Given the description of an element on the screen output the (x, y) to click on. 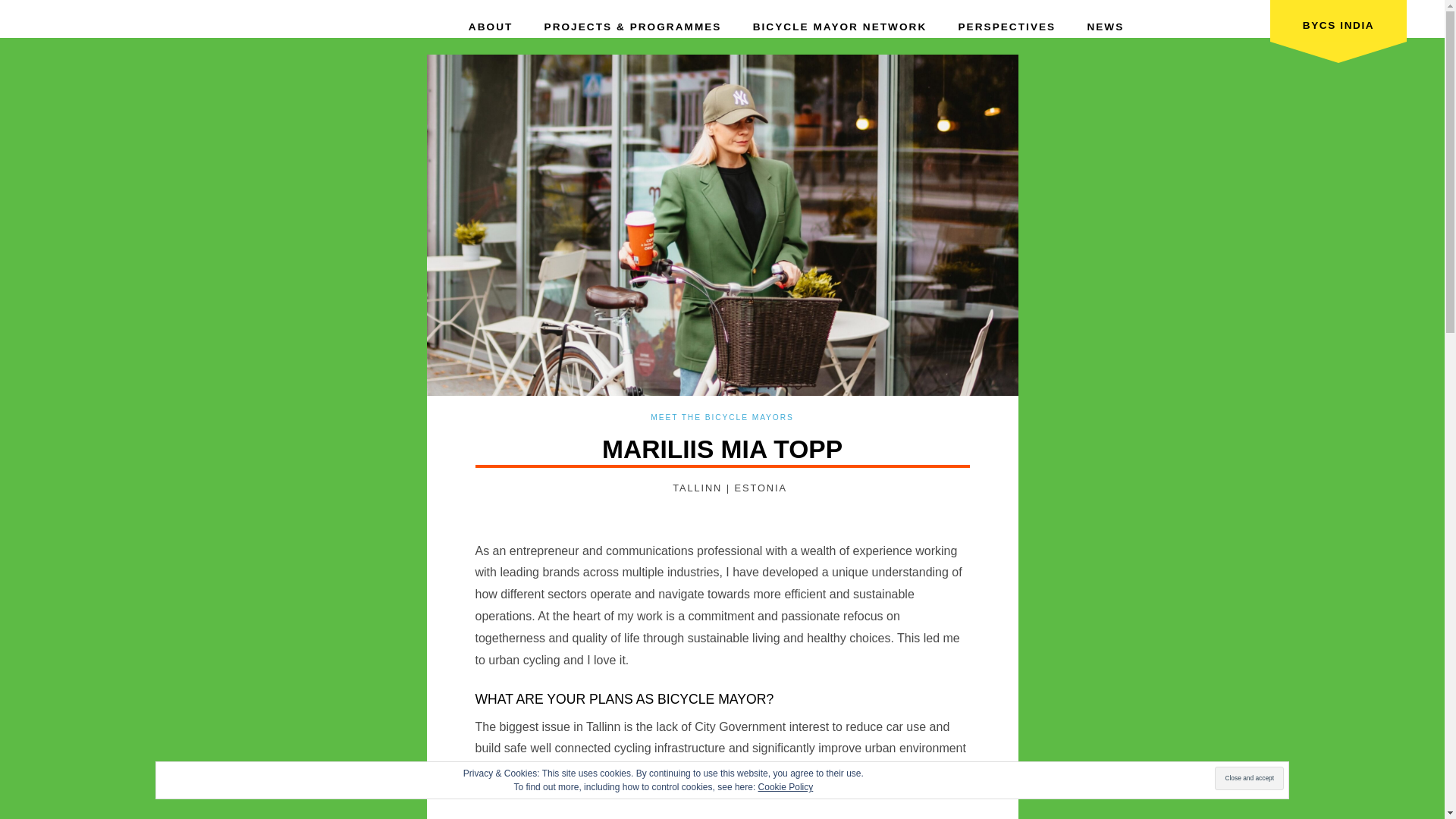
Close and accept (1249, 778)
BICYCLE MAYOR NETWORK (839, 20)
PERSPECTIVES (1006, 20)
Close and accept (1249, 778)
BYCS INDIA (1338, 30)
MEET THE BICYCLE MAYORS (721, 417)
Cookie Policy (785, 787)
NEWS (1105, 20)
ABOUT (490, 20)
